Given the description of an element on the screen output the (x, y) to click on. 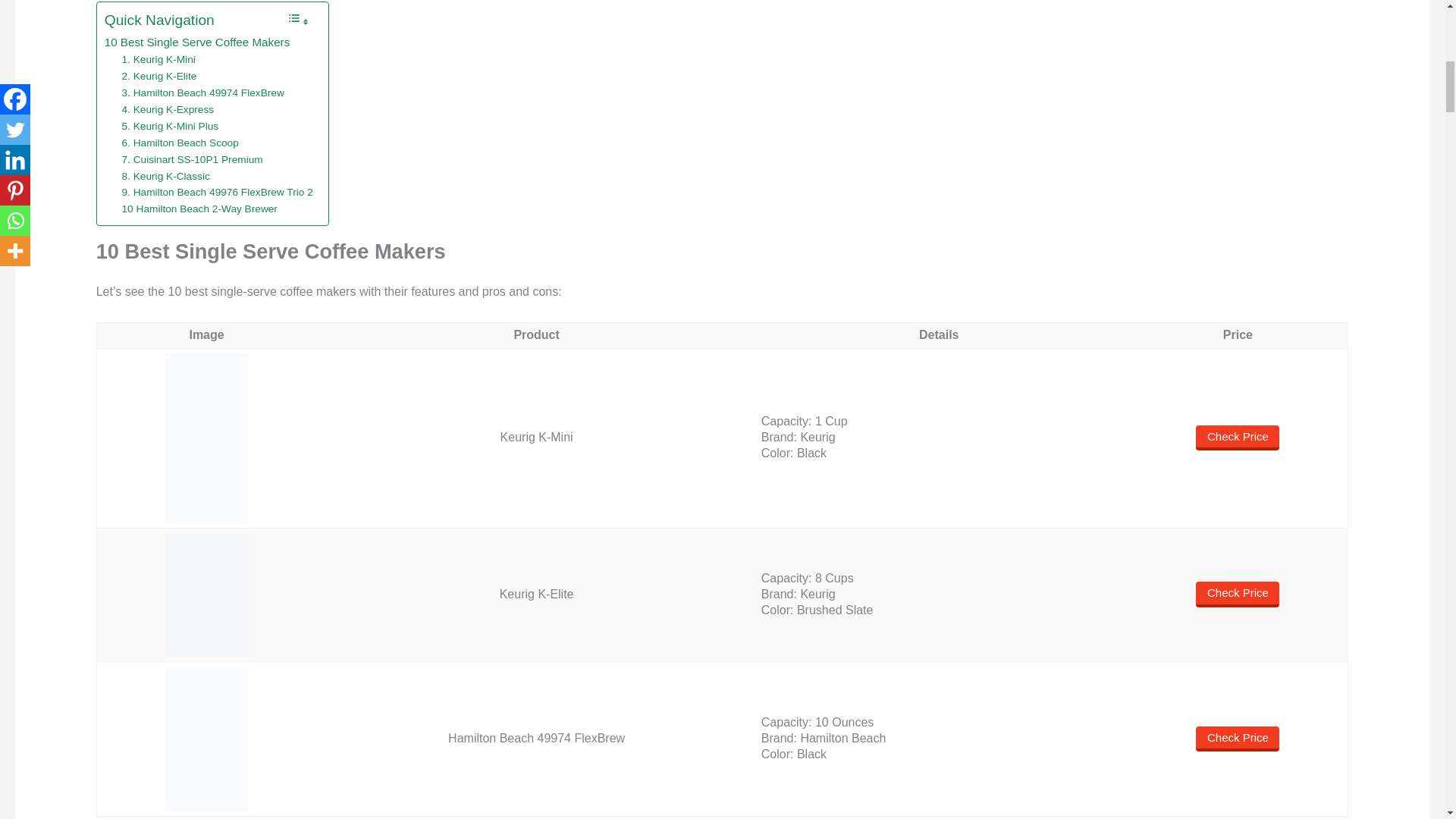
10 Best Single Serve Coffee Makers (196, 42)
4. Keurig K-Express (168, 109)
1. Keurig K-Mini (158, 59)
2. Keurig K-Elite (159, 76)
2. Keurig K-Elite (159, 76)
6. Hamilton Beach Scoop (180, 143)
3. Hamilton Beach 49974 FlexBrew (202, 93)
3. Hamilton Beach 49974 FlexBrew (202, 93)
1. Keurig K-Mini (158, 59)
5. Keurig K-Mini Plus (170, 126)
4. Keurig K-Express (168, 109)
10 Best Single Serve Coffee Makers (196, 42)
